Given the description of an element on the screen output the (x, y) to click on. 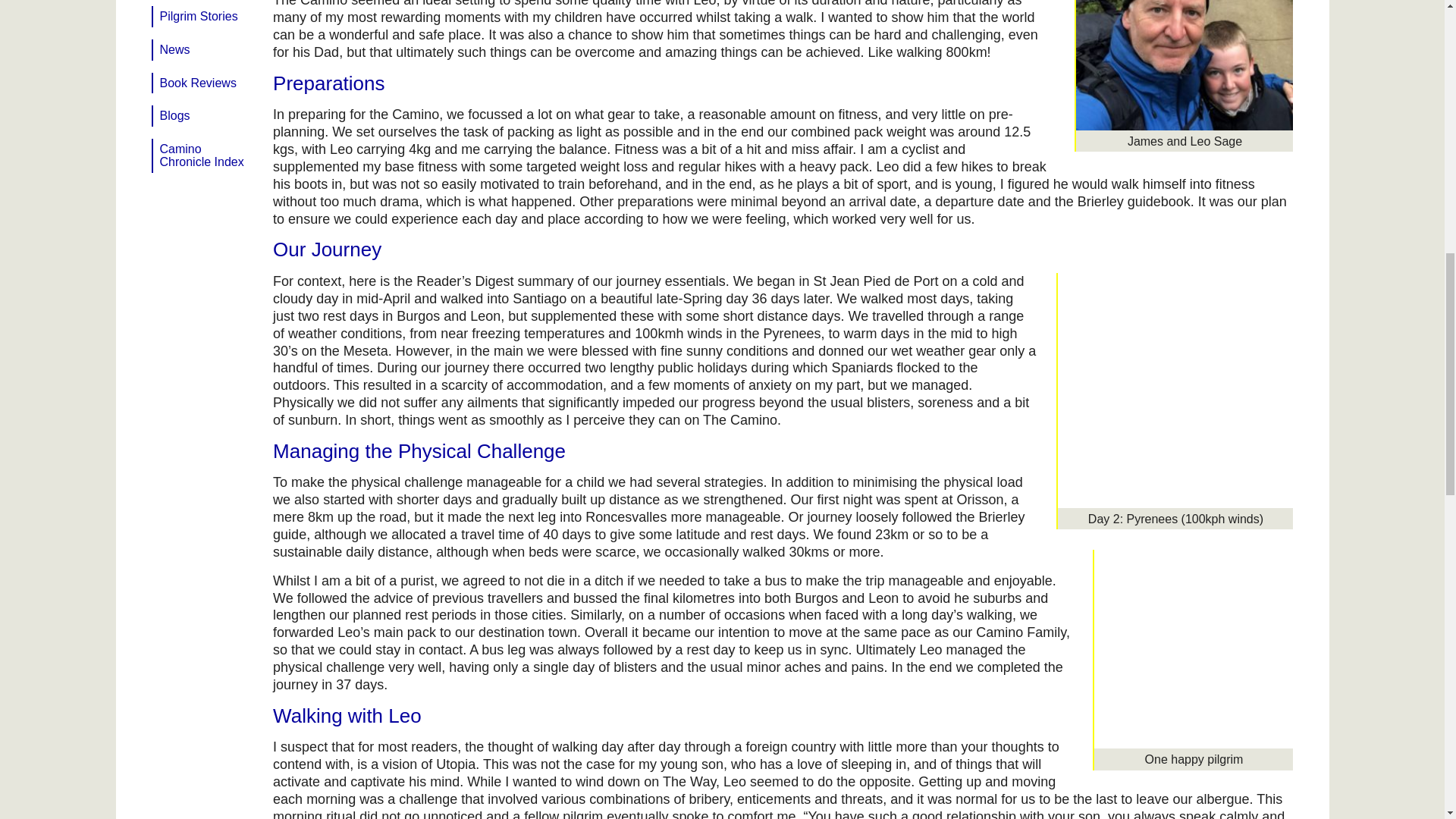
News (205, 49)
Camino Chronicle Index (205, 155)
Pilgrim Stories (205, 16)
Book Reviews (205, 83)
Blogs (205, 115)
